Given the description of an element on the screen output the (x, y) to click on. 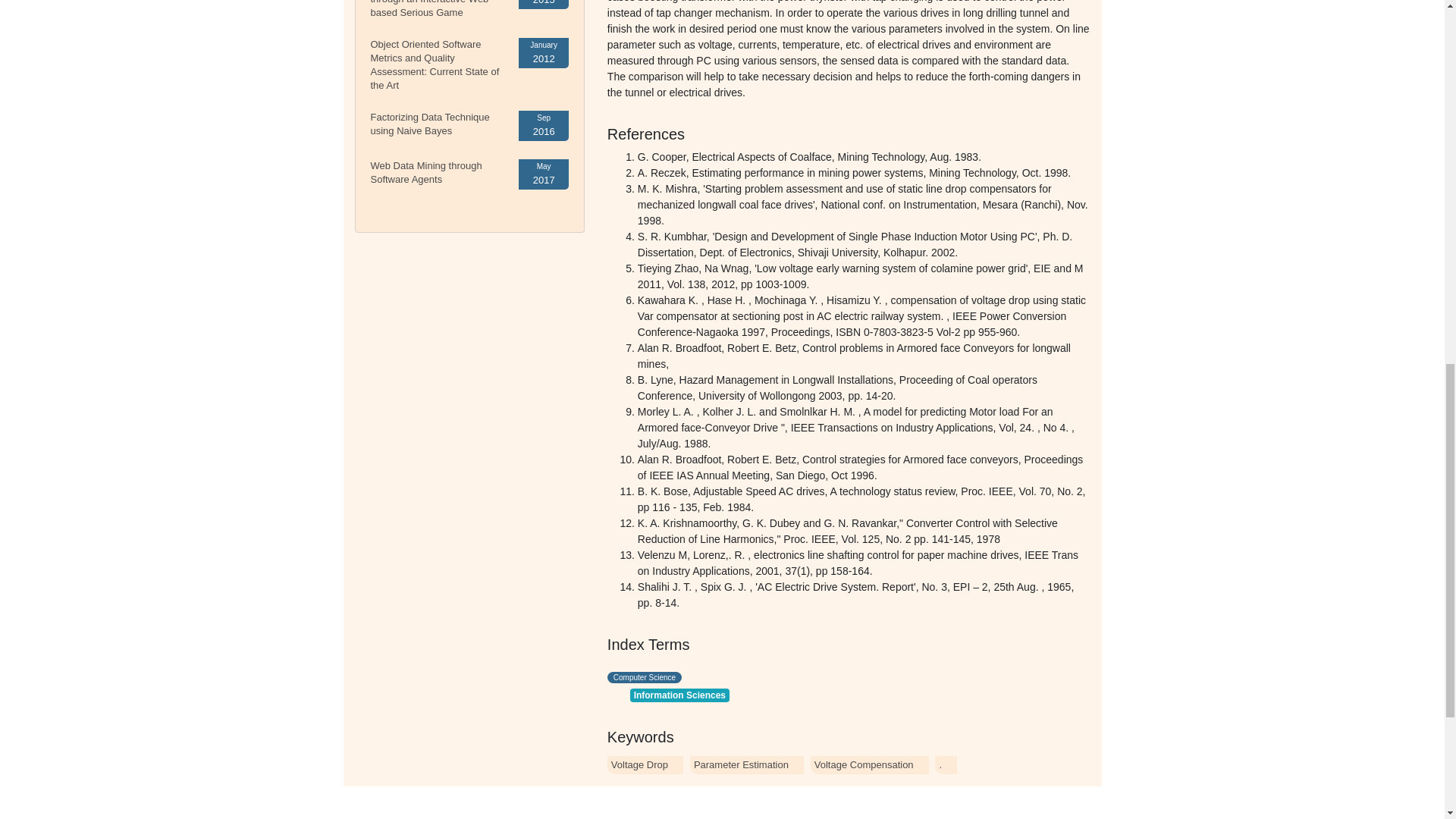
Web Data Mining through Software Agents (425, 172)
Factorizing Data Technique using Naive Bayes (429, 123)
